Given the description of an element on the screen output the (x, y) to click on. 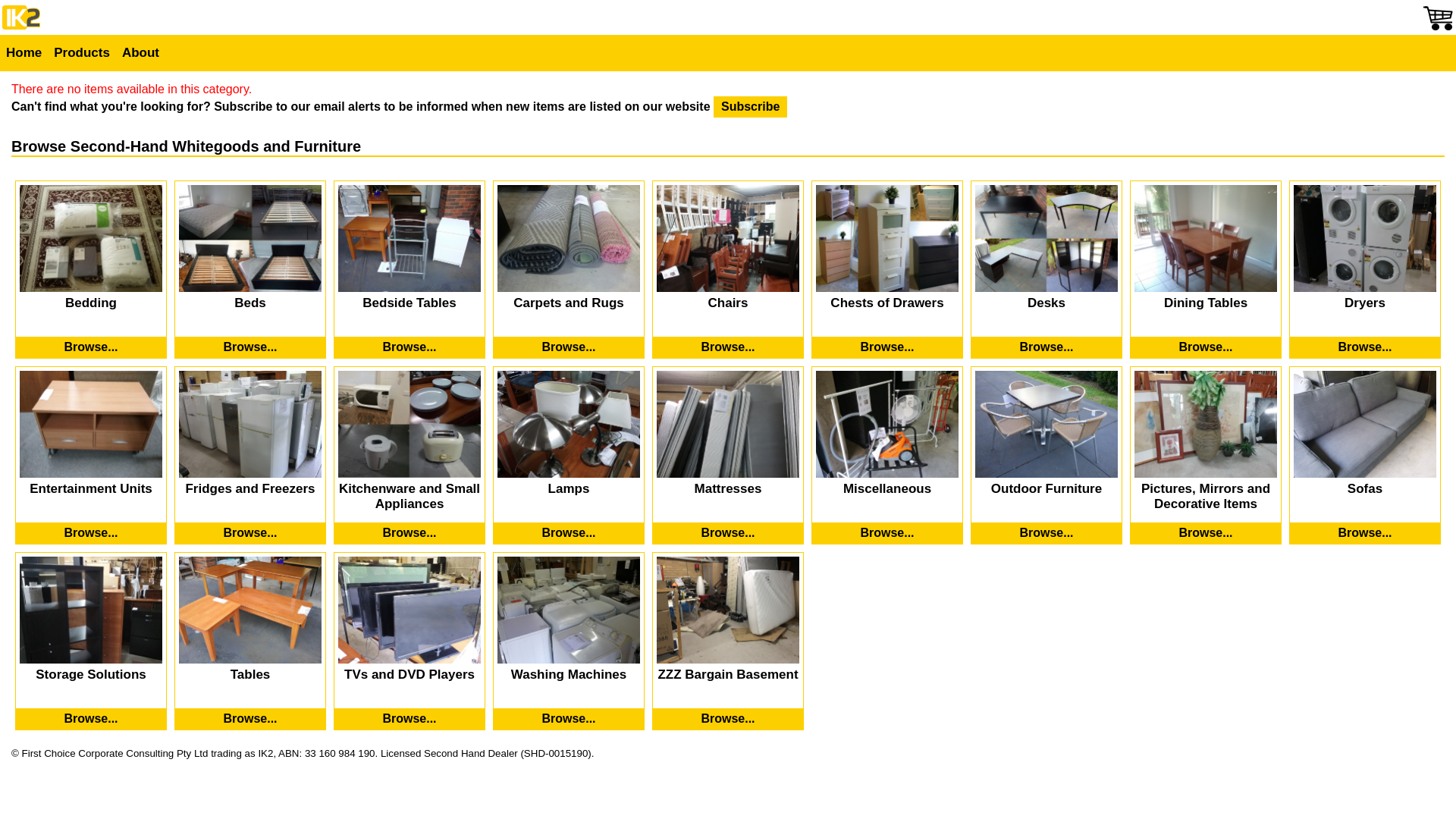
Home Element type: text (23, 52)
Subscribe Element type: text (750, 106)
About Element type: text (140, 52)
Products Element type: text (81, 52)
